Given the description of an element on the screen output the (x, y) to click on. 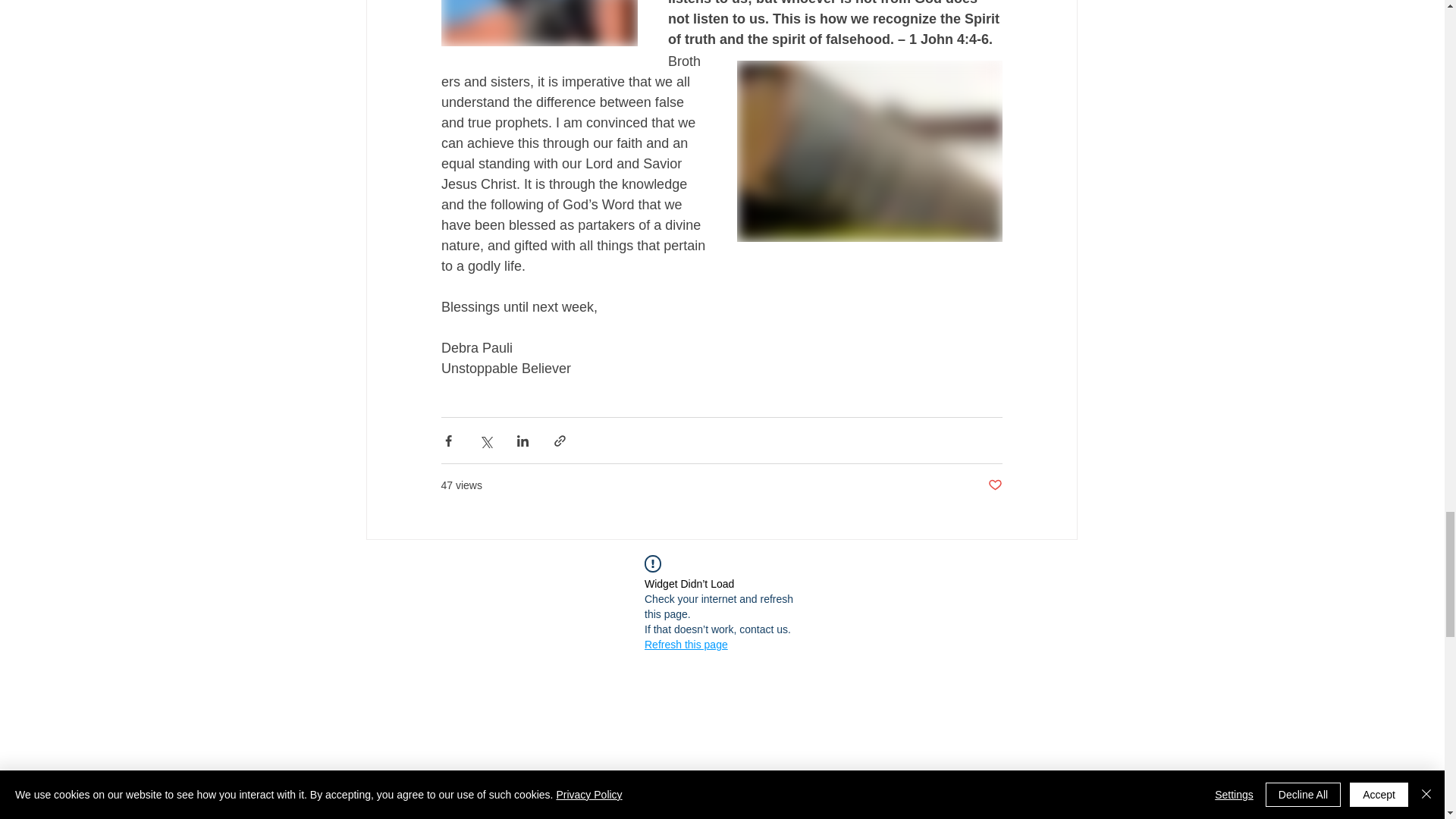
Refresh this page (686, 644)
Post not marked as liked (994, 485)
